Given the description of an element on the screen output the (x, y) to click on. 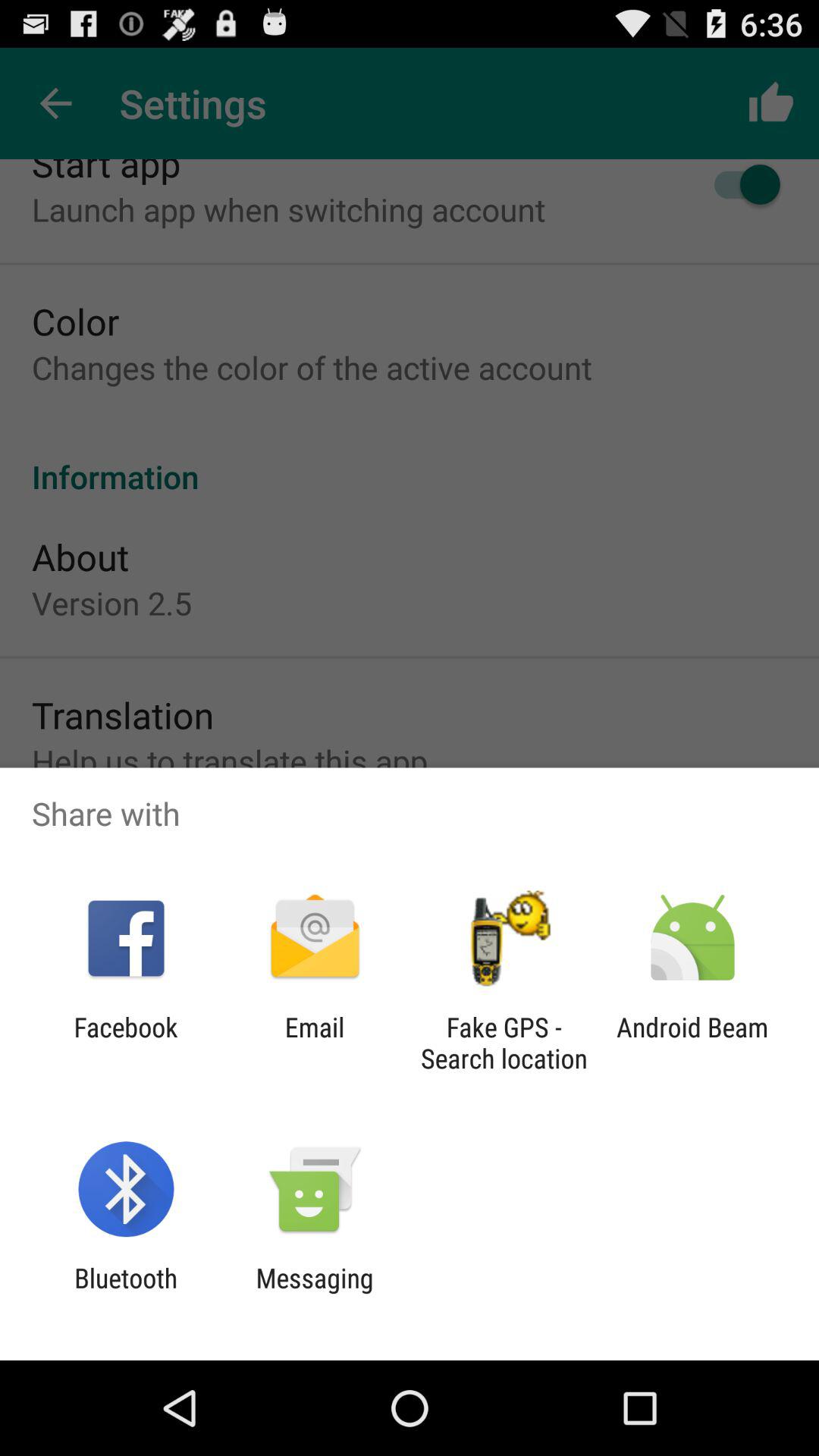
turn on fake gps search item (503, 1042)
